Given the description of an element on the screen output the (x, y) to click on. 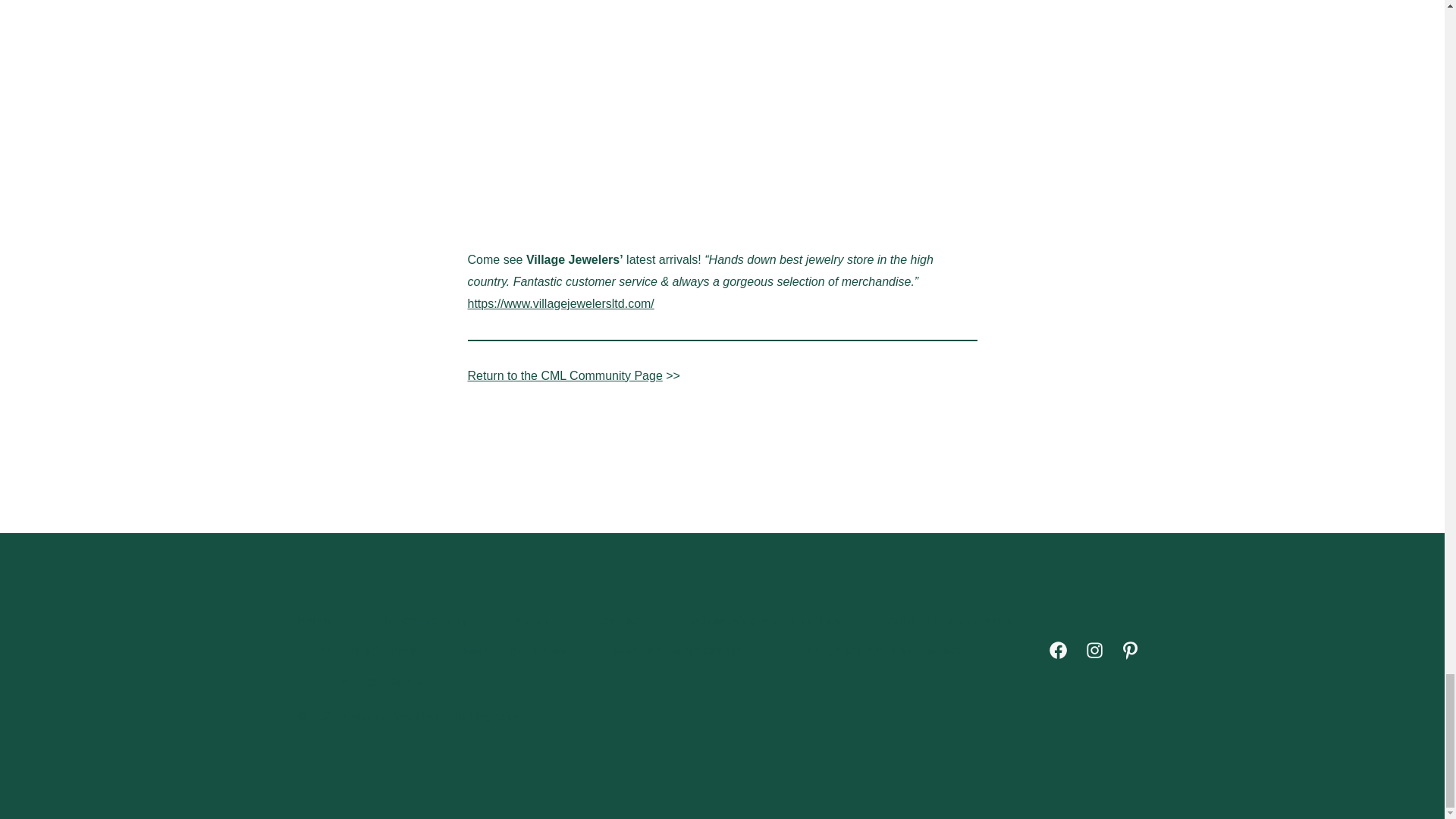
cml community (422, 621)
sign up for cml newsletters (880, 651)
about (532, 621)
Return to the CML Community Page (564, 375)
advertising opportunities (765, 621)
Open Pinterest in a new tab (1130, 649)
read our latest issue (950, 621)
home (324, 621)
connect (619, 621)
Open Facebook in a new tab (1058, 649)
feedback from readers (682, 651)
read back issues (514, 651)
Open Instagram in a new tab (1094, 649)
